Given the description of an element on the screen output the (x, y) to click on. 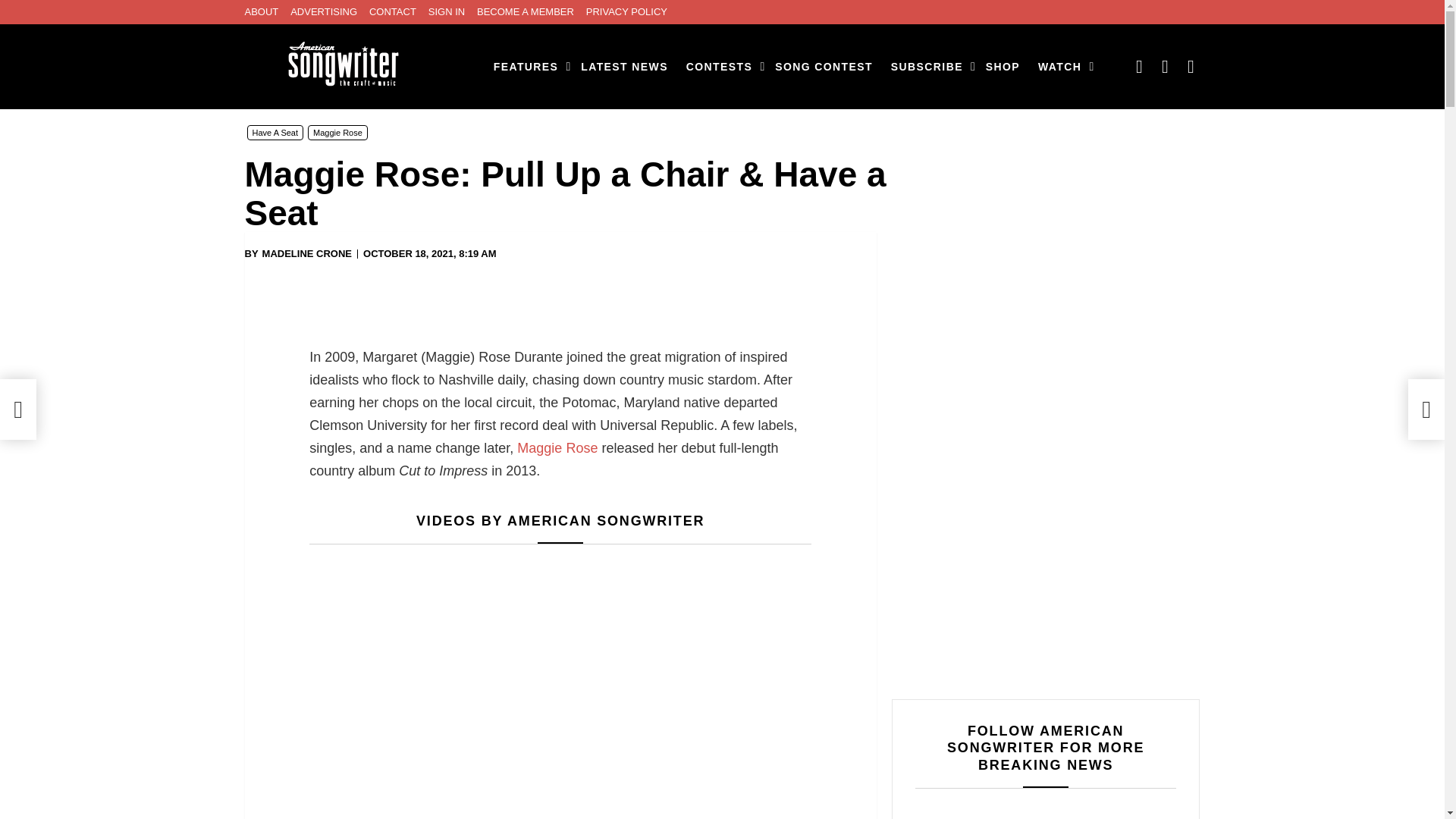
ADVERTISING (322, 12)
CONTACT (392, 12)
BECOME A MEMBER (525, 12)
CONTESTS (721, 66)
FEATURES (528, 66)
Posts by Madeline Crone (307, 254)
PRIVACY POLICY (626, 12)
LATEST NEWS (624, 66)
ABOUT (261, 12)
SIGN IN (446, 12)
